Given the description of an element on the screen output the (x, y) to click on. 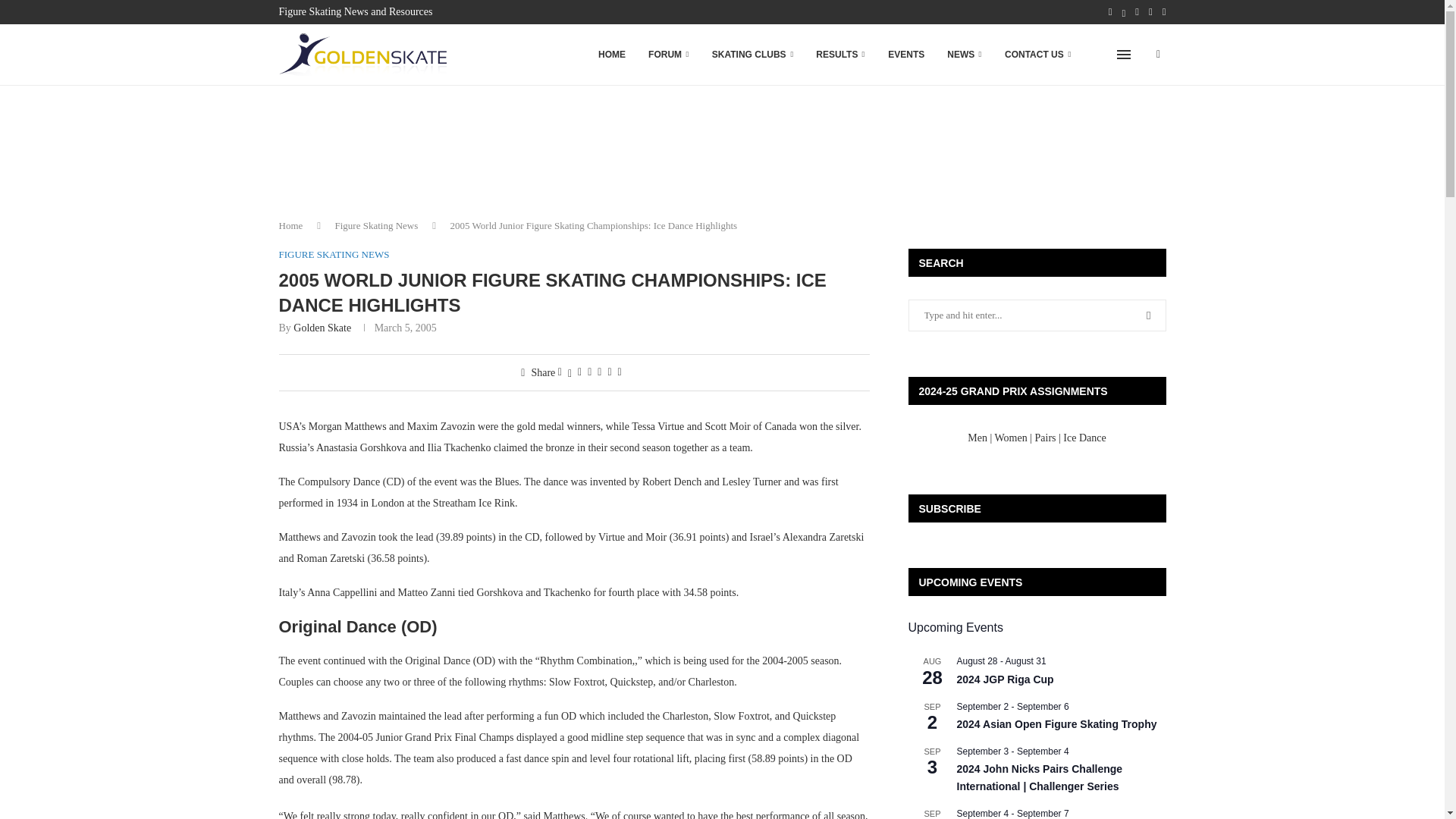
FORUM (668, 54)
SKATING CLUBS (752, 54)
RESULTS (840, 54)
